Given the description of an element on the screen output the (x, y) to click on. 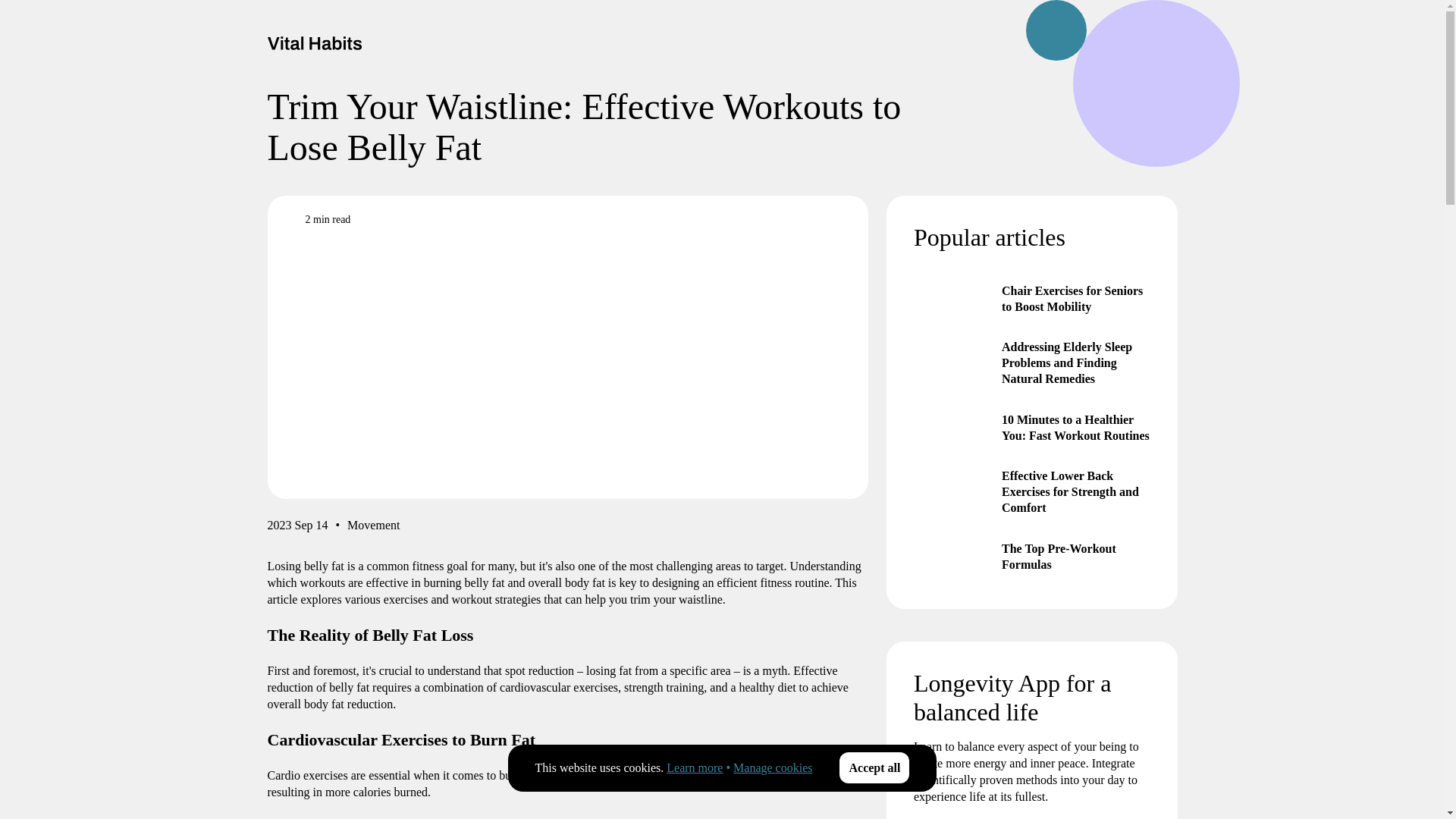
Learn more (694, 767)
Movement (372, 527)
